Given the description of an element on the screen output the (x, y) to click on. 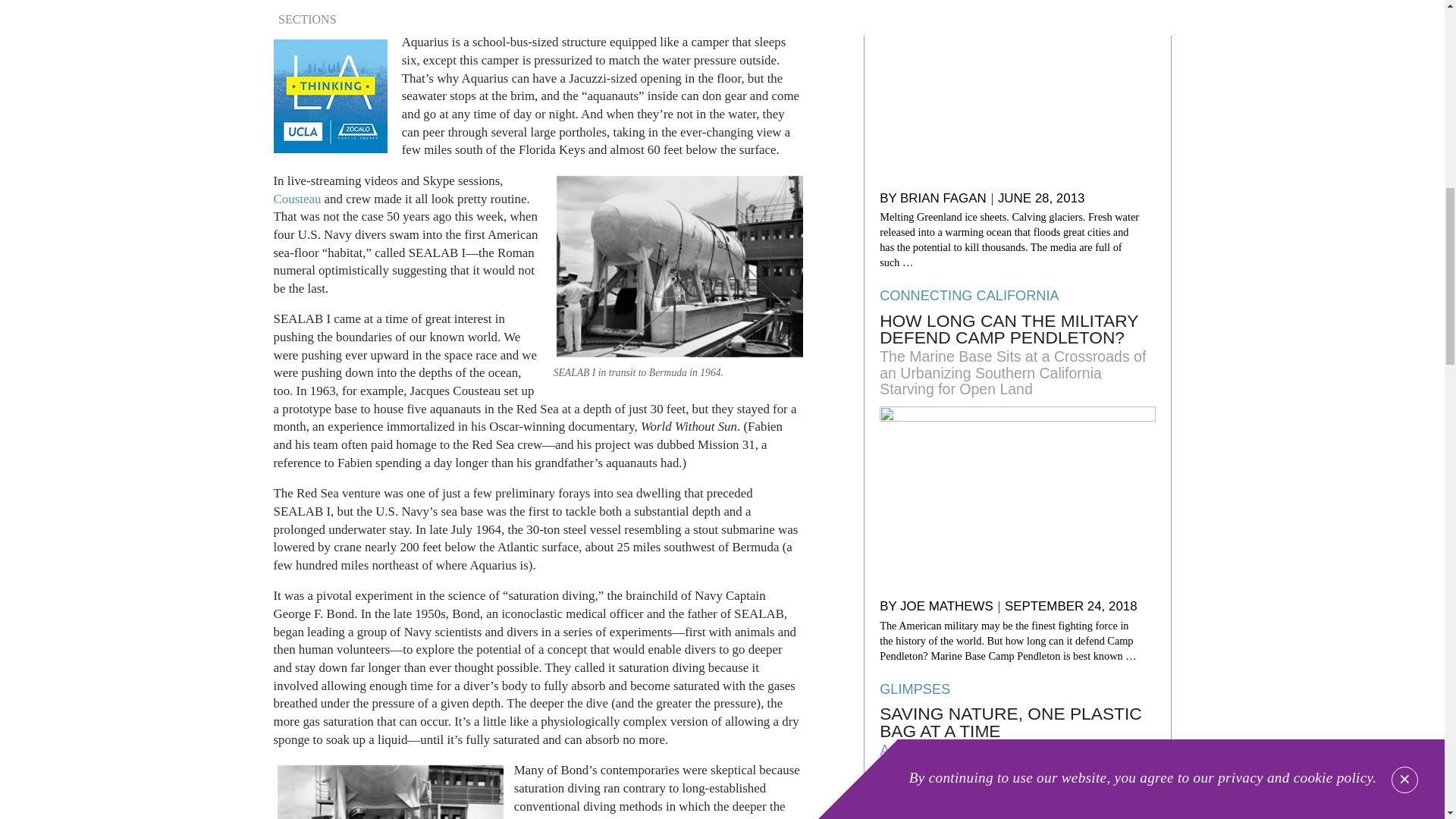
The Ocean Vs. California (1016, 90)
Saving Nature, One Plastic Bag at a Time (1016, 809)
How Long Can the Military Defend Camp Pendleton? (1016, 497)
Saving Nature, One Plastic Bag at a Time (1016, 722)
How Long Can the Military Defend Camp Pendleton? (1016, 329)
